Given the description of an element on the screen output the (x, y) to click on. 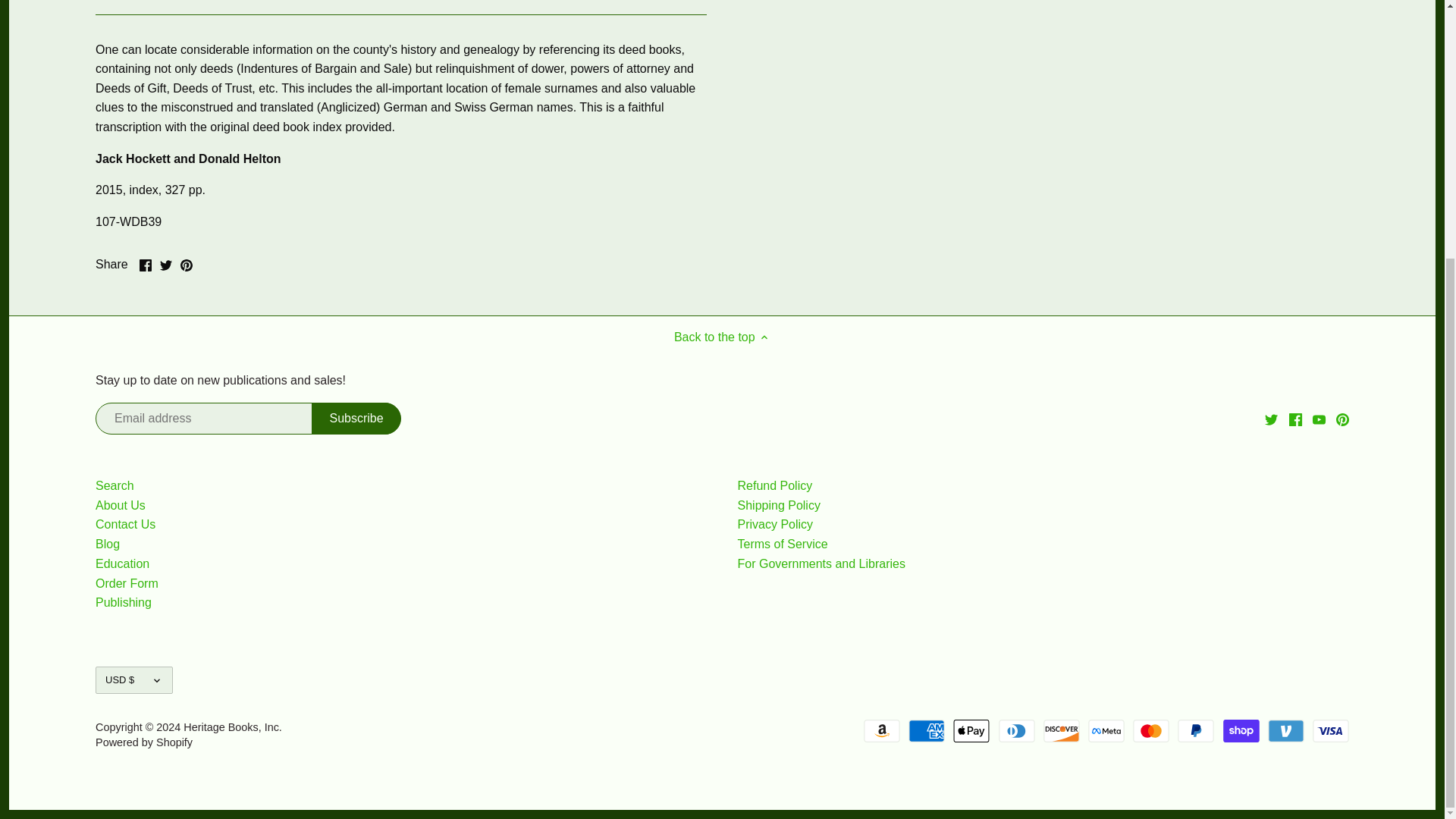
Subscribe (356, 418)
Twitter (1271, 419)
Twitter (165, 265)
Pinterest (186, 265)
Facebook (1294, 419)
Youtube (1318, 419)
Pinterest (1342, 419)
Facebook (145, 265)
